Given the description of an element on the screen output the (x, y) to click on. 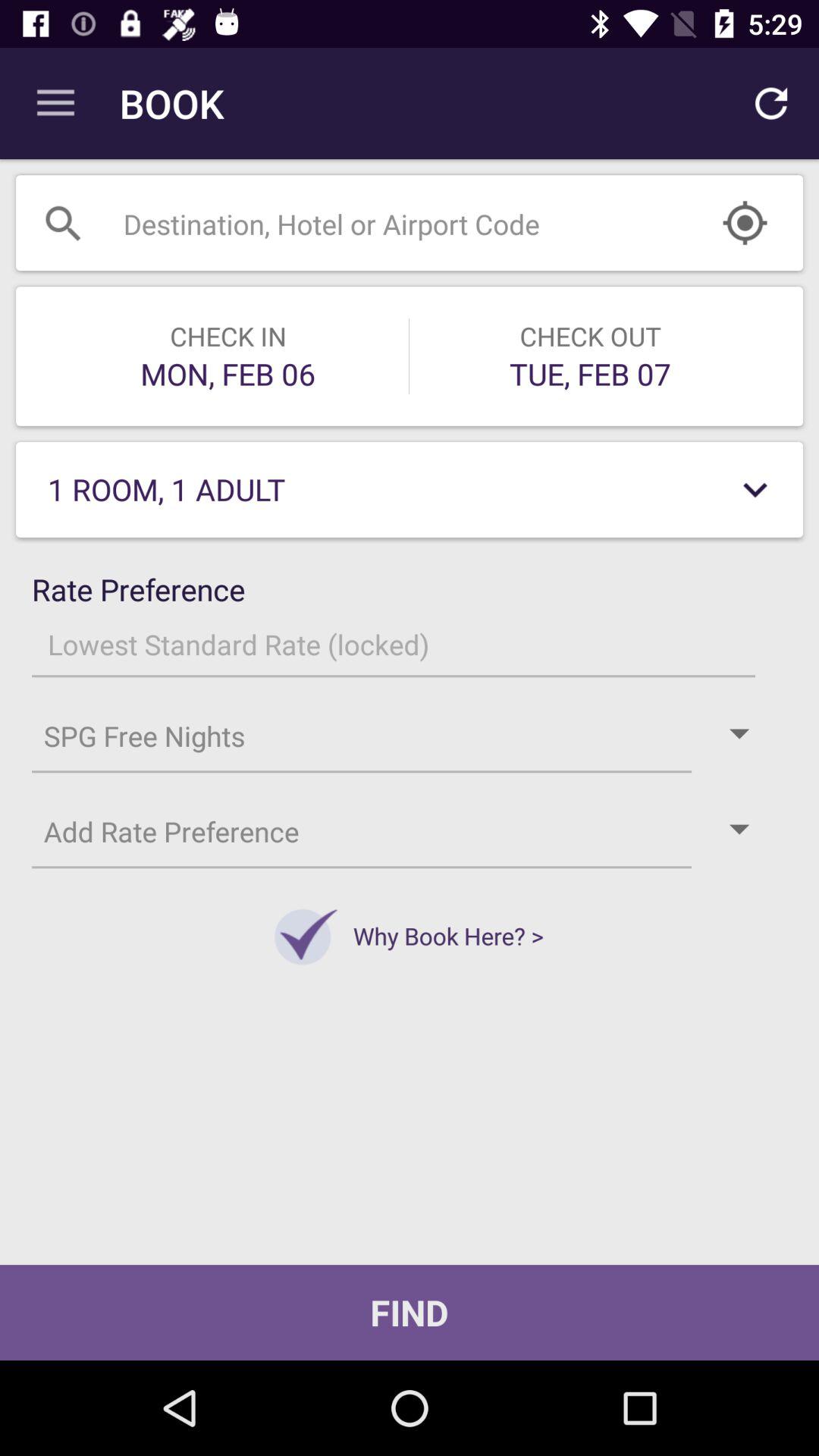
enter search number here (370, 222)
